Given the description of an element on the screen output the (x, y) to click on. 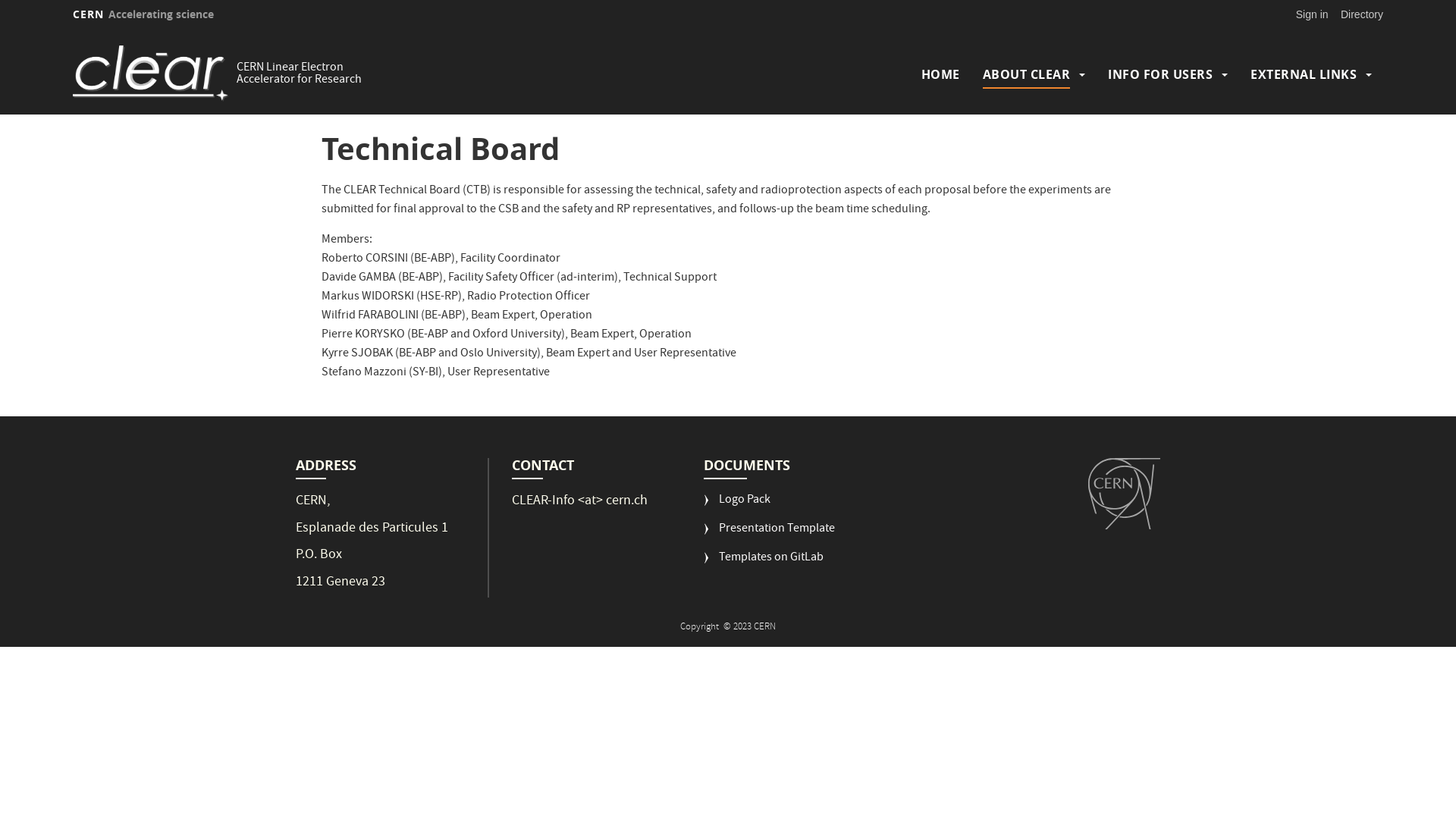
Presentation Template Element type: text (768, 534)
CERN Accelerating science Element type: text (142, 14)
INFO FOR USERS Element type: text (1159, 74)
Home Element type: hover (150, 73)
Copyright Element type: text (700, 627)
Sign in Element type: text (1311, 14)
HOME Element type: text (939, 74)
Directory Element type: text (1361, 14)
Logo Pack Element type: text (736, 506)
Skip to main content Element type: text (0, 30)
CERN Element type: hover (1124, 493)
Templates on GitLab Element type: text (763, 563)
ABOUT CLEAR Element type: text (1026, 74)
EXTERNAL LINKS Element type: text (1303, 74)
